Given the description of an element on the screen output the (x, y) to click on. 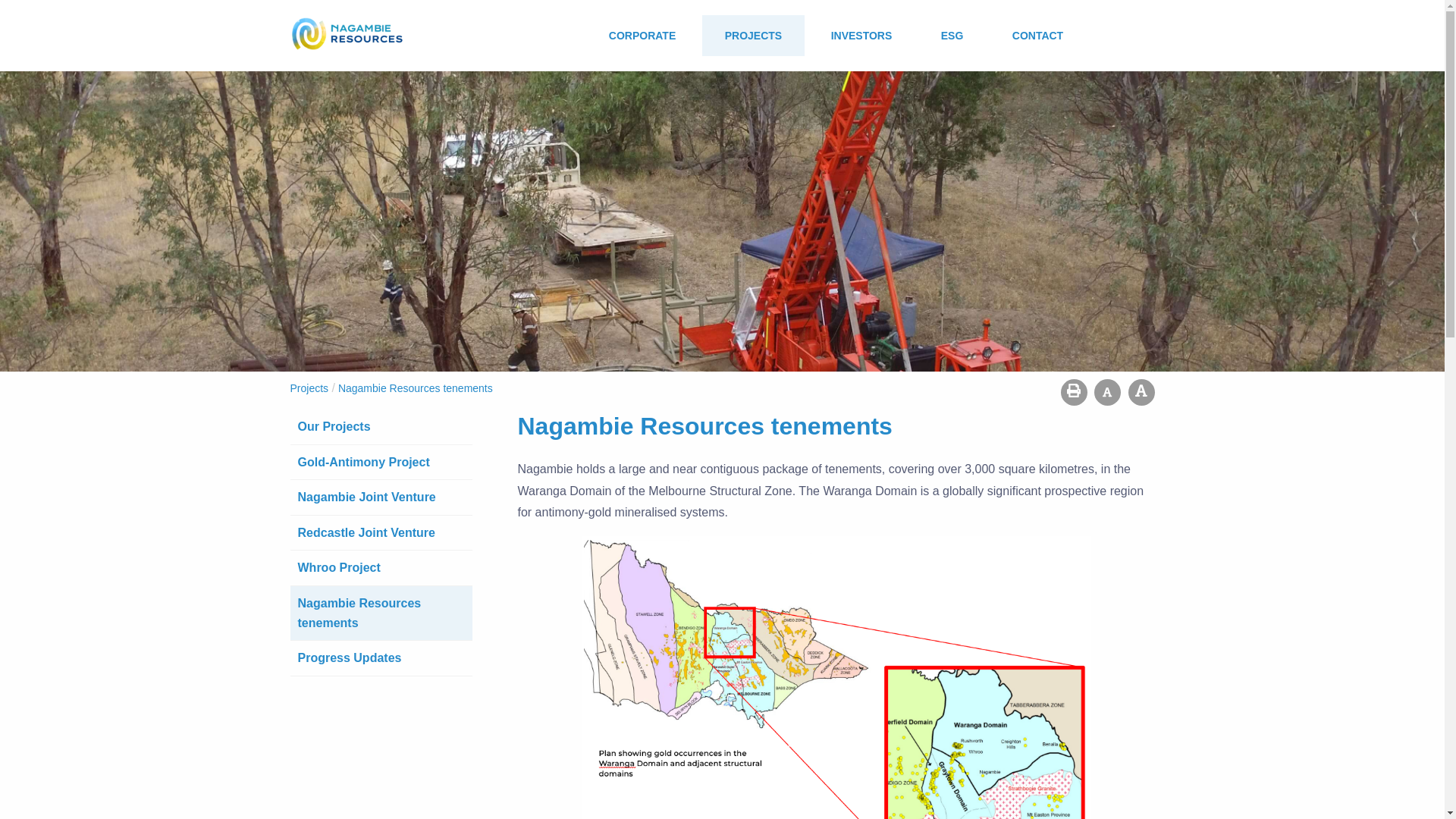
Font Smaller (1107, 392)
PROJECTS (753, 35)
CORPORATE (642, 35)
Print Page (1074, 392)
Font Larger (1141, 392)
